Given the description of an element on the screen output the (x, y) to click on. 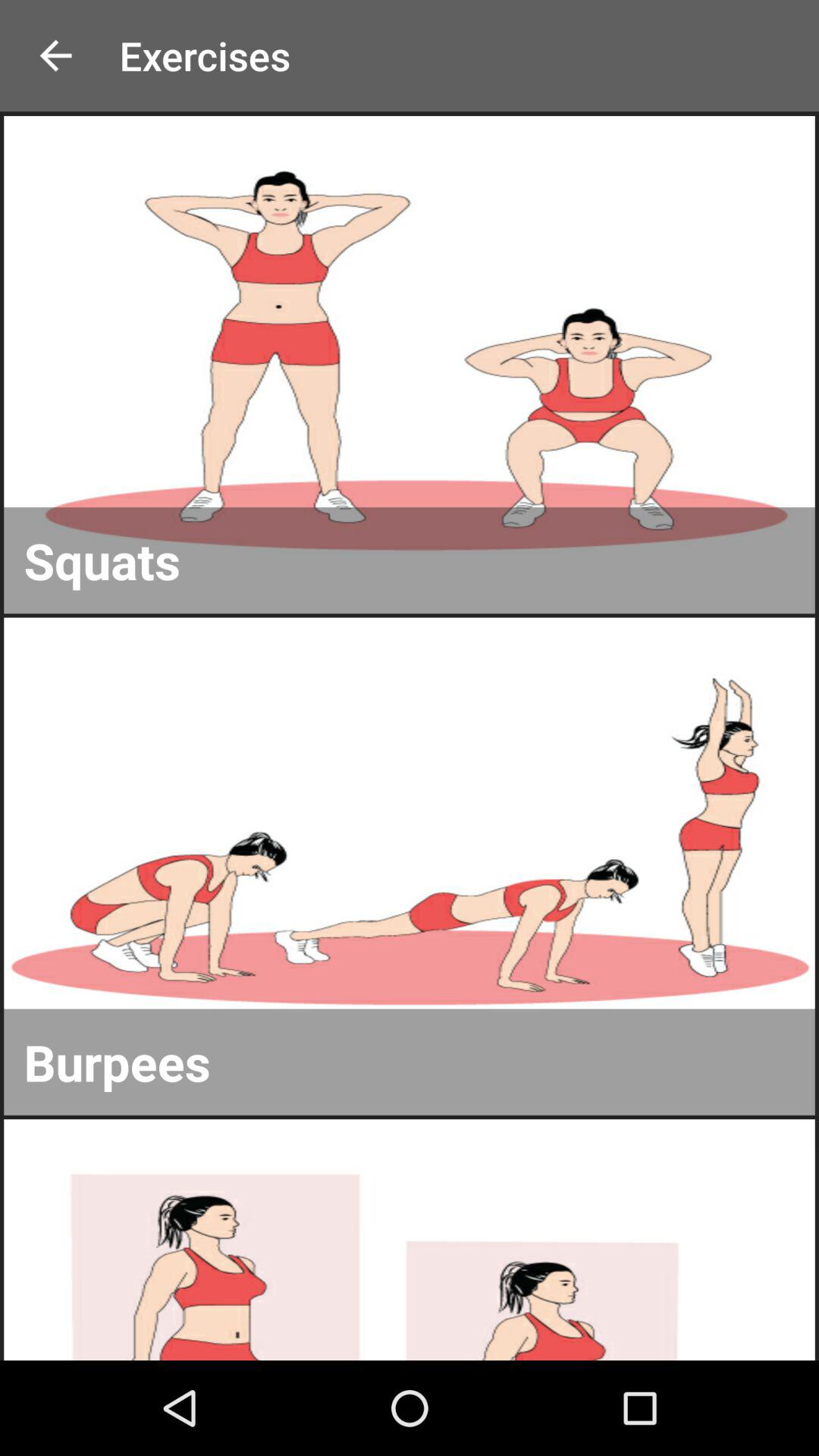
turn on the icon next to exercises (55, 55)
